Given the description of an element on the screen output the (x, y) to click on. 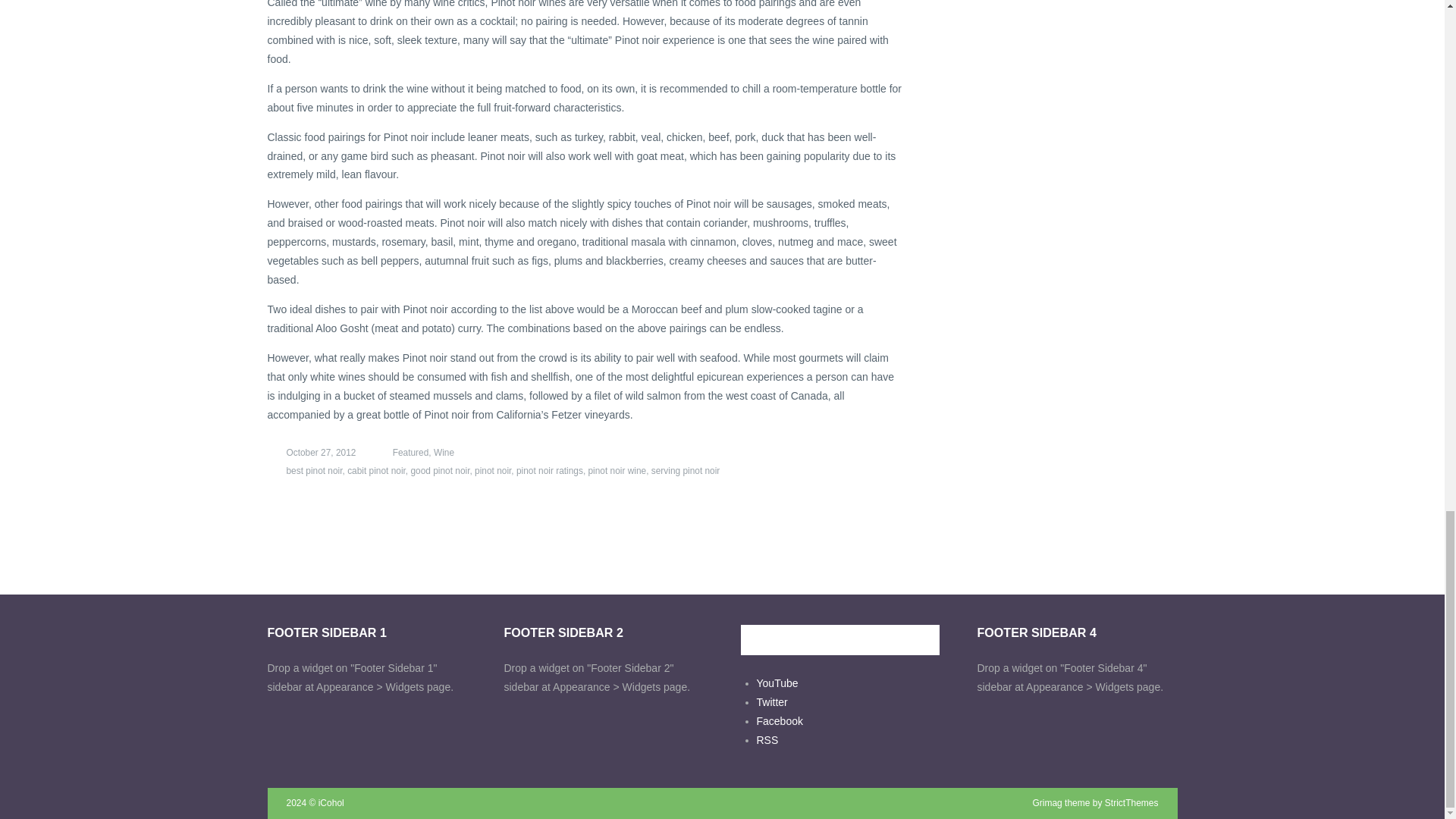
Twitter (772, 702)
YouTube (777, 683)
October 27, 2012 (310, 452)
RSS (767, 739)
Featured (401, 452)
cabit pinot noir (376, 470)
Search (922, 639)
good pinot noir (439, 470)
best pinot noir (304, 470)
Search (922, 639)
StrictThemes (1131, 802)
Facebook (780, 720)
Wine (443, 452)
pinot noir ratings (549, 470)
pinot noir (492, 470)
